Given the description of an element on the screen output the (x, y) to click on. 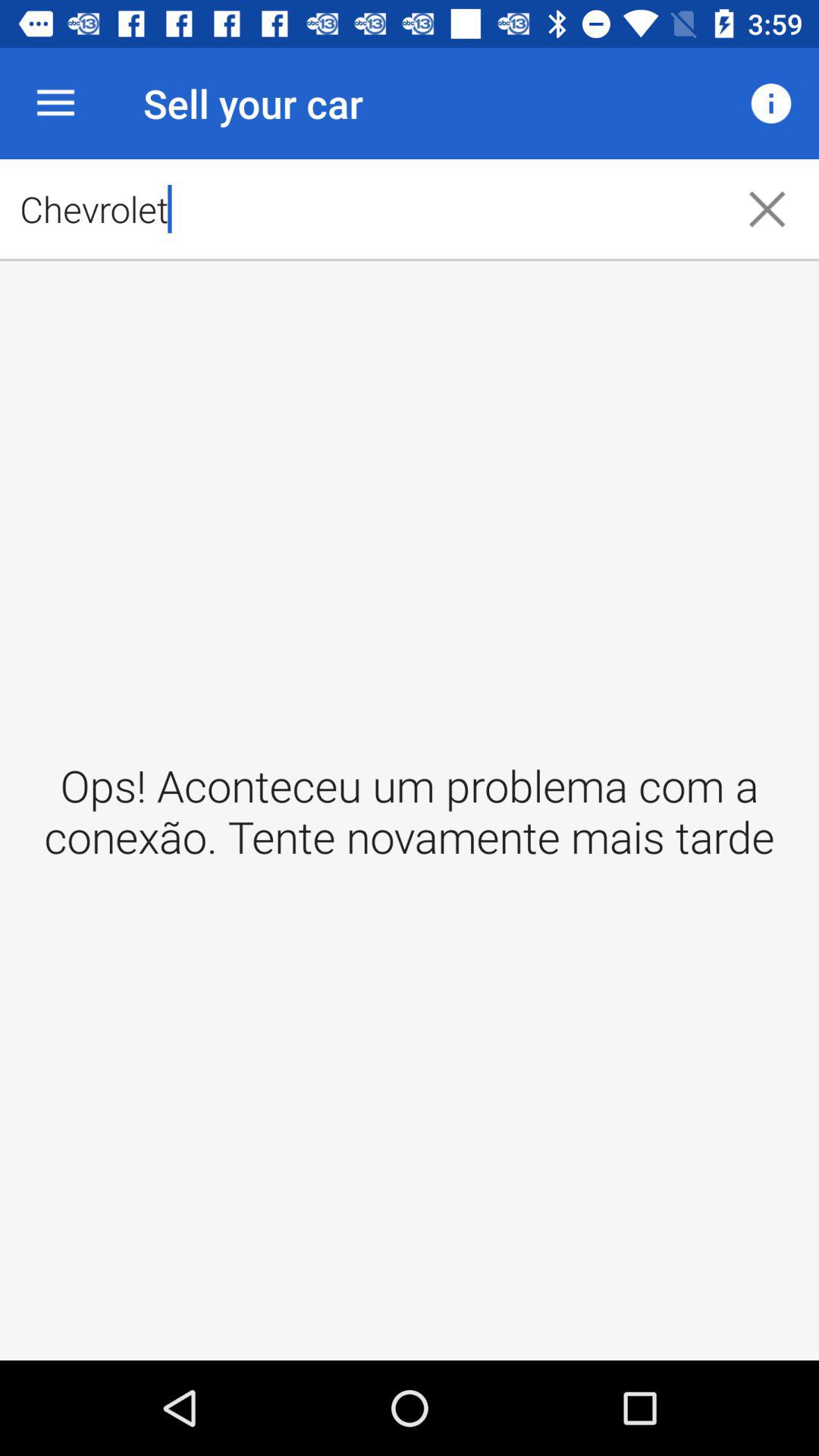
scroll to the chevrolet item (357, 208)
